Given the description of an element on the screen output the (x, y) to click on. 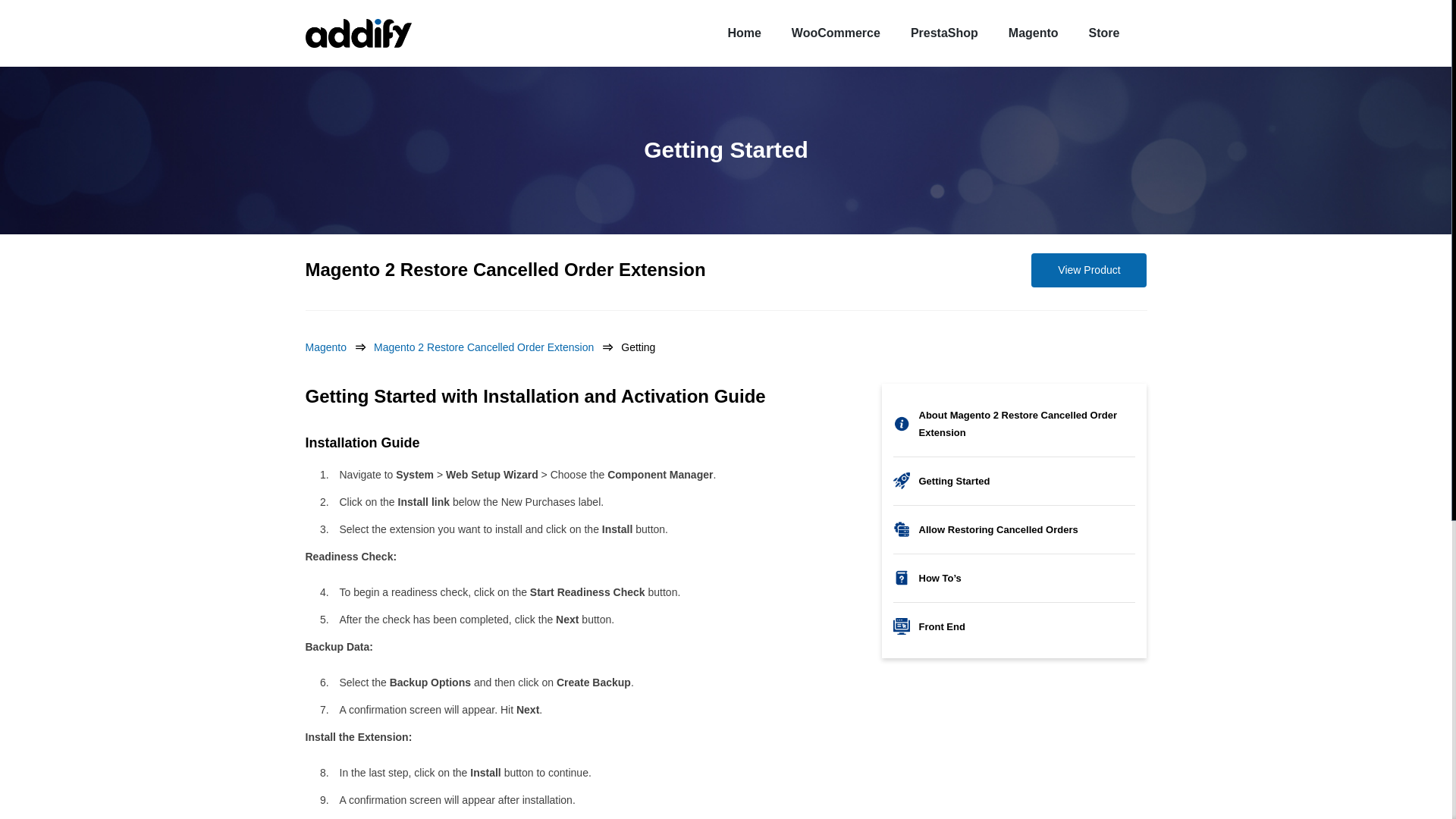
PrestaShop (943, 32)
Getting Started (1014, 480)
Magento 2 Restore Cancelled Order Extension (504, 269)
Store (1104, 32)
Magento (1033, 32)
View Product (1088, 270)
Allow Restoring Cancelled Orders (1014, 529)
Front End (1014, 626)
About Magento 2 Restore Cancelled Order Extension (1014, 423)
Magento (338, 346)
Home (743, 32)
WooCommerce (835, 32)
Magento 2 Restore Cancelled Order Extension (497, 346)
